Given the description of an element on the screen output the (x, y) to click on. 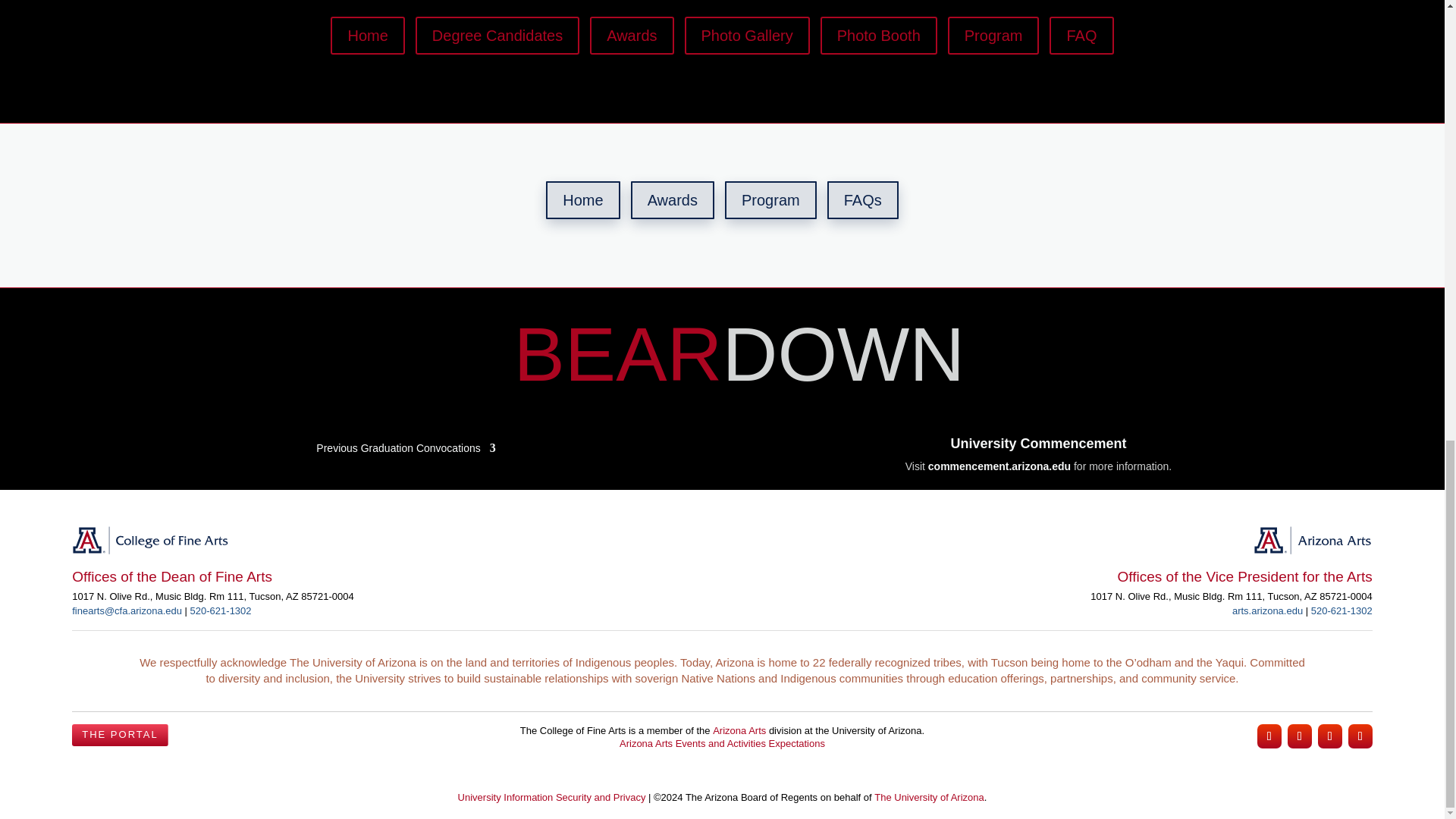
FAQs (862, 199)
Follow on X (1329, 735)
Degree Candidates (496, 35)
520-621-1302 (1342, 610)
CFA-Lockup-UABlue (149, 540)
FAQ (1081, 35)
520-621-1302 (220, 610)
Follow on Youtube (1360, 735)
Program (770, 199)
Photo Booth (879, 35)
THE PORTAL (119, 734)
Follow on Instagram (1269, 735)
Follow on Facebook (1299, 735)
Home (367, 35)
arts.arizona.edu (1267, 610)
